Given the description of an element on the screen output the (x, y) to click on. 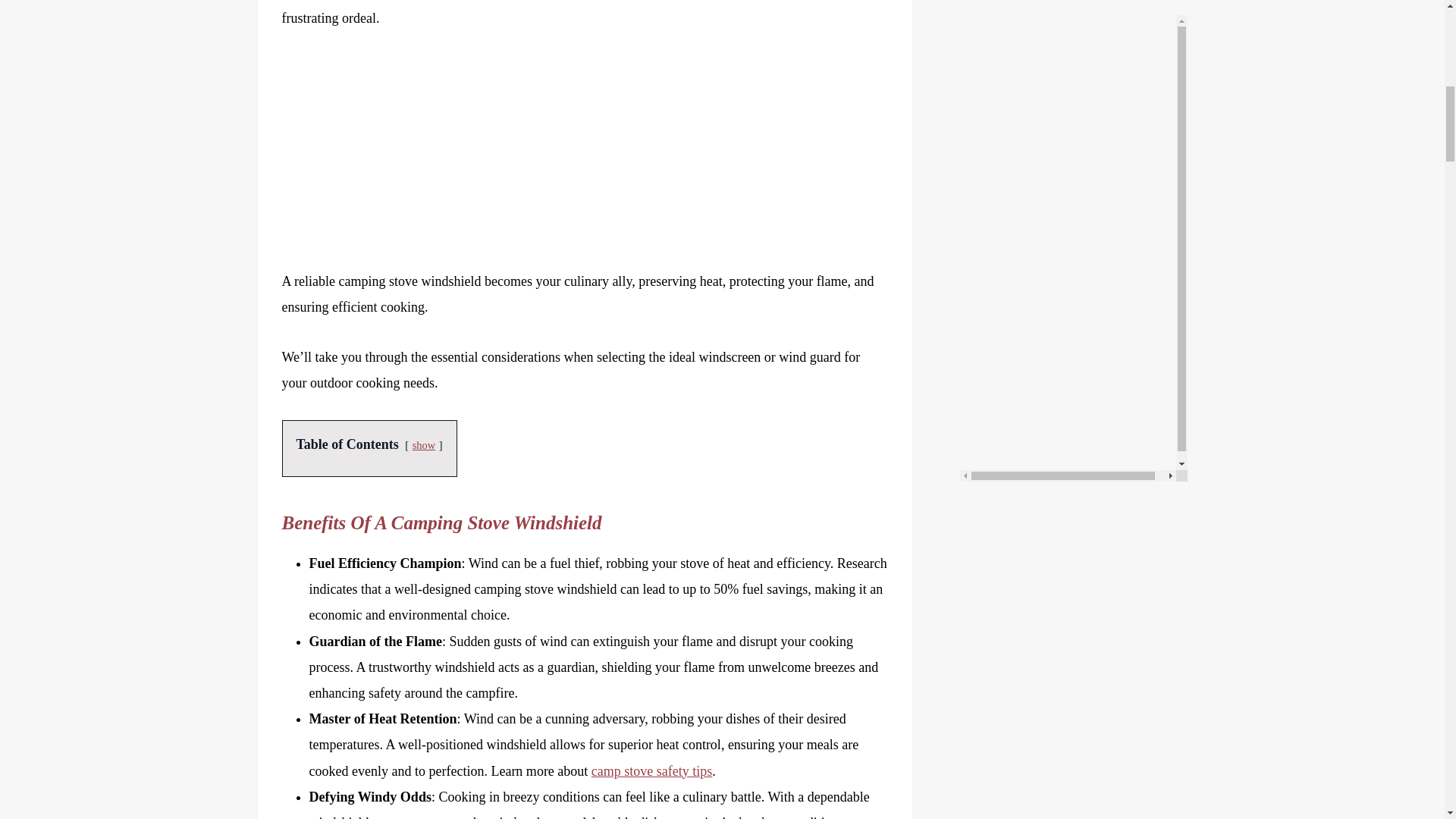
show (423, 444)
Advertisement (585, 162)
